Given the description of an element on the screen output the (x, y) to click on. 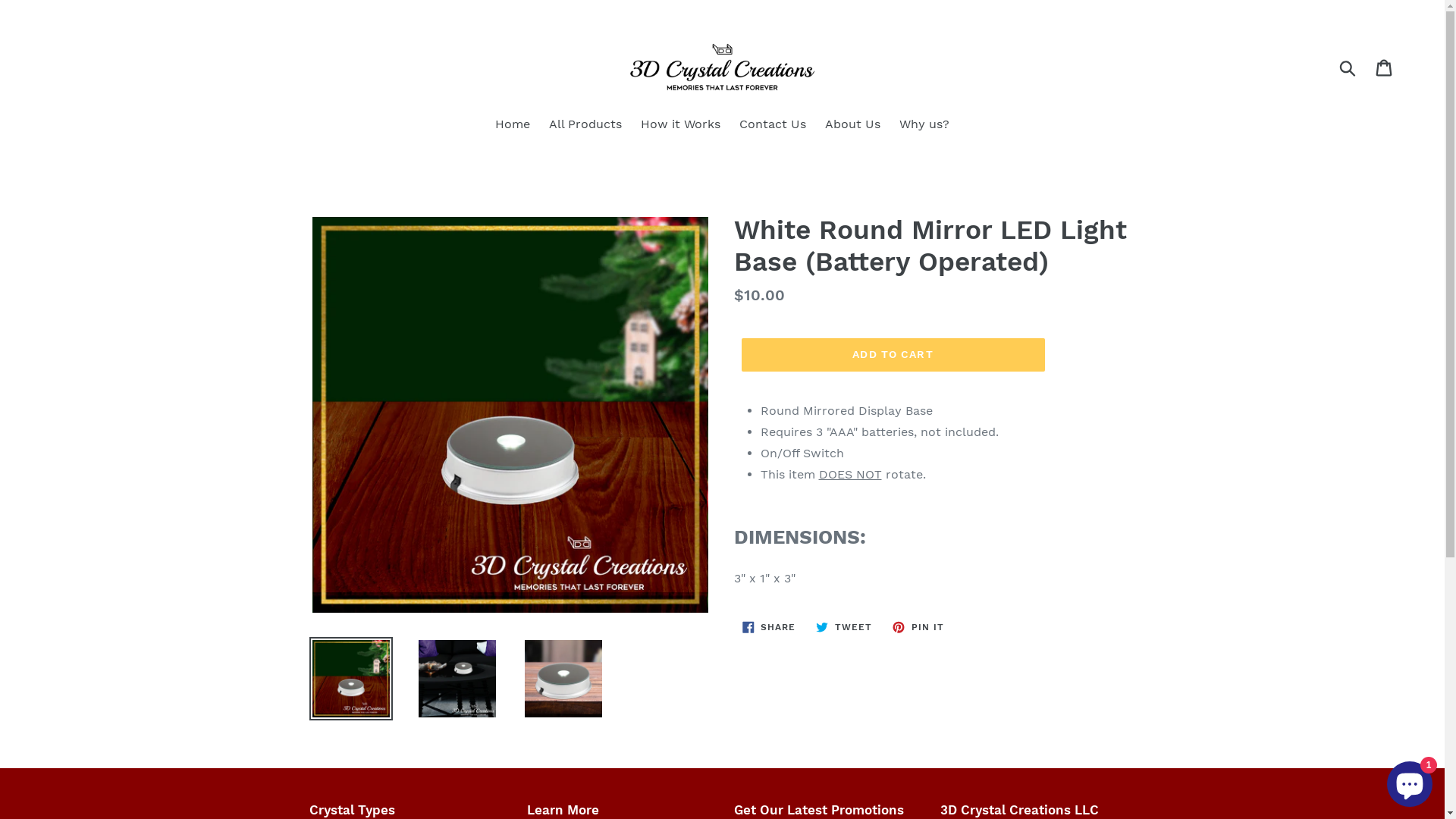
ADD TO CART Element type: text (892, 354)
PIN IT
PIN ON PINTEREST Element type: text (918, 627)
About Us Element type: text (852, 125)
Shopify online store chat Element type: hover (1409, 780)
Submit Element type: text (1348, 66)
Home Element type: text (512, 125)
How it Works Element type: text (680, 125)
Contact Us Element type: text (772, 125)
Cart Element type: text (1384, 67)
SHARE
SHARE ON FACEBOOK Element type: text (769, 627)
Why us? Element type: text (924, 125)
All Products Element type: text (585, 125)
TWEET
TWEET ON TWITTER Element type: text (843, 627)
